Given the description of an element on the screen output the (x, y) to click on. 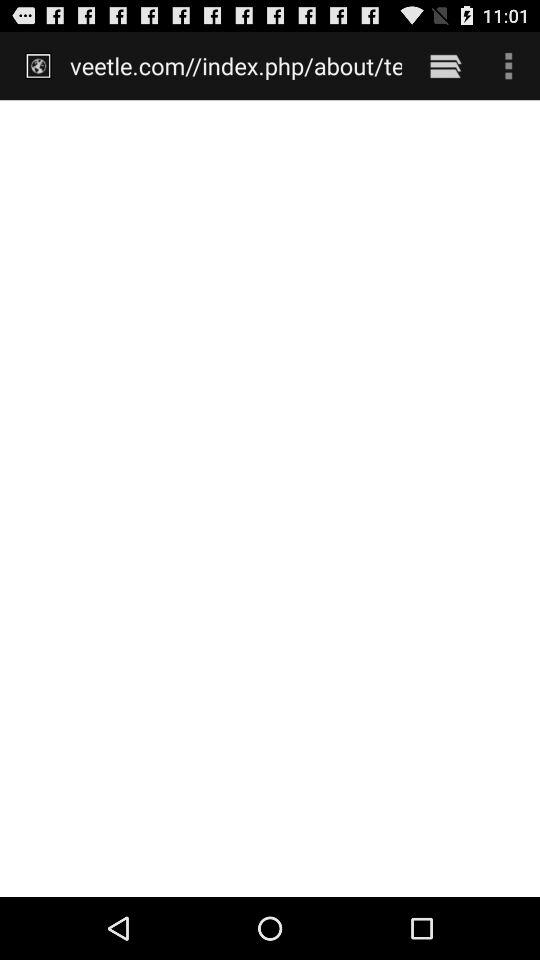
tap the veetle com index icon (235, 65)
